Given the description of an element on the screen output the (x, y) to click on. 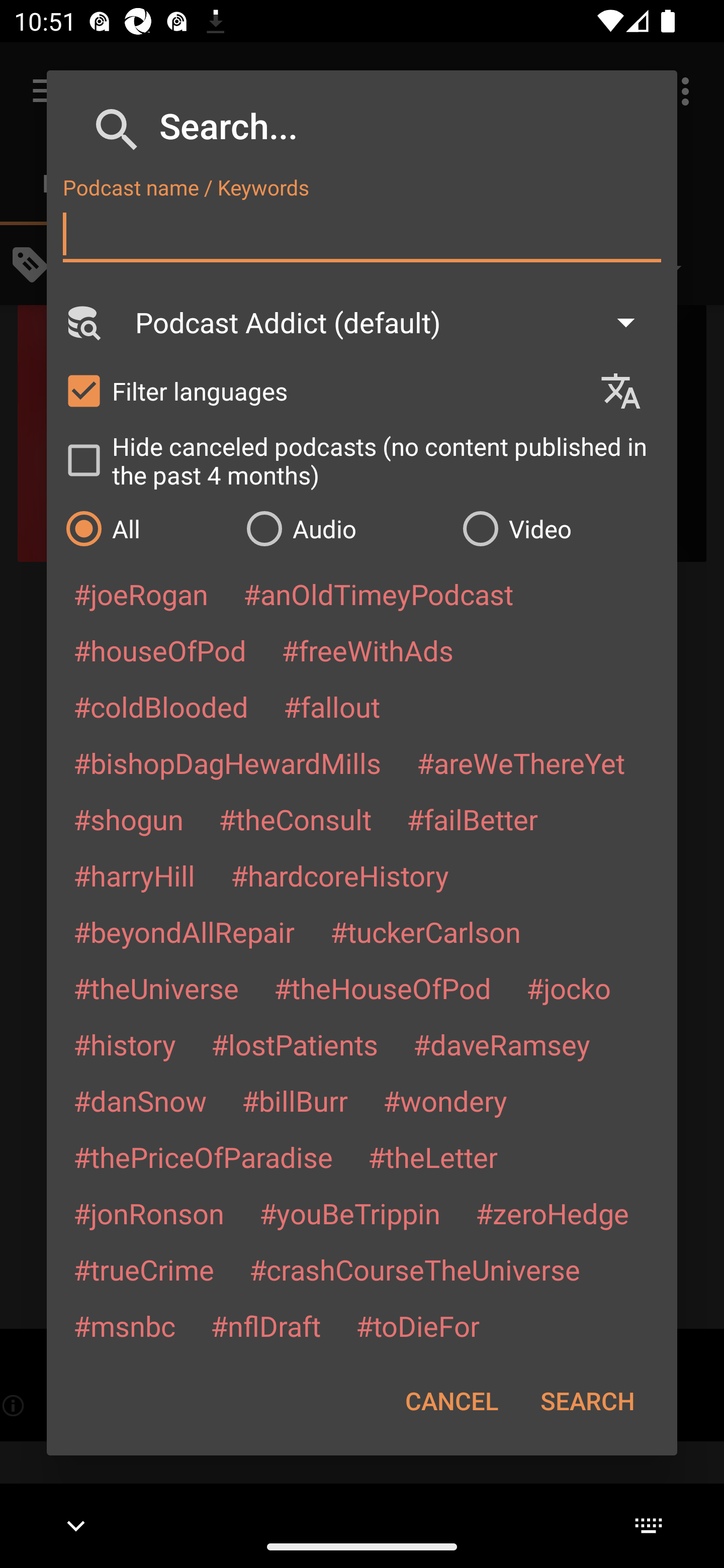
Podcast name / Keywords (361, 234)
Search Engine (82, 322)
Podcast Addict (default) (394, 322)
Languages selection (629, 390)
Filter languages (322, 390)
All (145, 528)
Audio (344, 528)
Video (560, 528)
#joeRogan (140, 594)
#anOldTimeyPodcast (378, 594)
#houseOfPod (159, 650)
#freeWithAds (367, 650)
#coldBlooded (160, 705)
#fallout (331, 705)
#bishopDagHewardMills (227, 762)
#areWeThereYet (521, 762)
#shogun (128, 818)
#theConsult (294, 818)
#failBetter (471, 818)
#harryHill (134, 875)
#hardcoreHistory (339, 875)
#beyondAllRepair (184, 931)
#tuckerCarlson (425, 931)
#theUniverse (155, 987)
#theHouseOfPod (381, 987)
#jocko (568, 987)
#history (124, 1044)
#lostPatients (294, 1044)
#daveRamsey (501, 1044)
#danSnow (139, 1100)
#billBurr (294, 1100)
#wondery (444, 1100)
#thePriceOfParadise (203, 1157)
#theLetter (432, 1157)
#jonRonson (148, 1213)
#youBeTrippin (349, 1213)
#zeroHedge (552, 1213)
#trueCrime (143, 1268)
#crashCourseTheUniverse (414, 1268)
#msnbc (124, 1325)
#nflDraft (265, 1325)
#toDieFor (417, 1325)
CANCEL (451, 1400)
SEARCH (587, 1400)
